Given the description of an element on the screen output the (x, y) to click on. 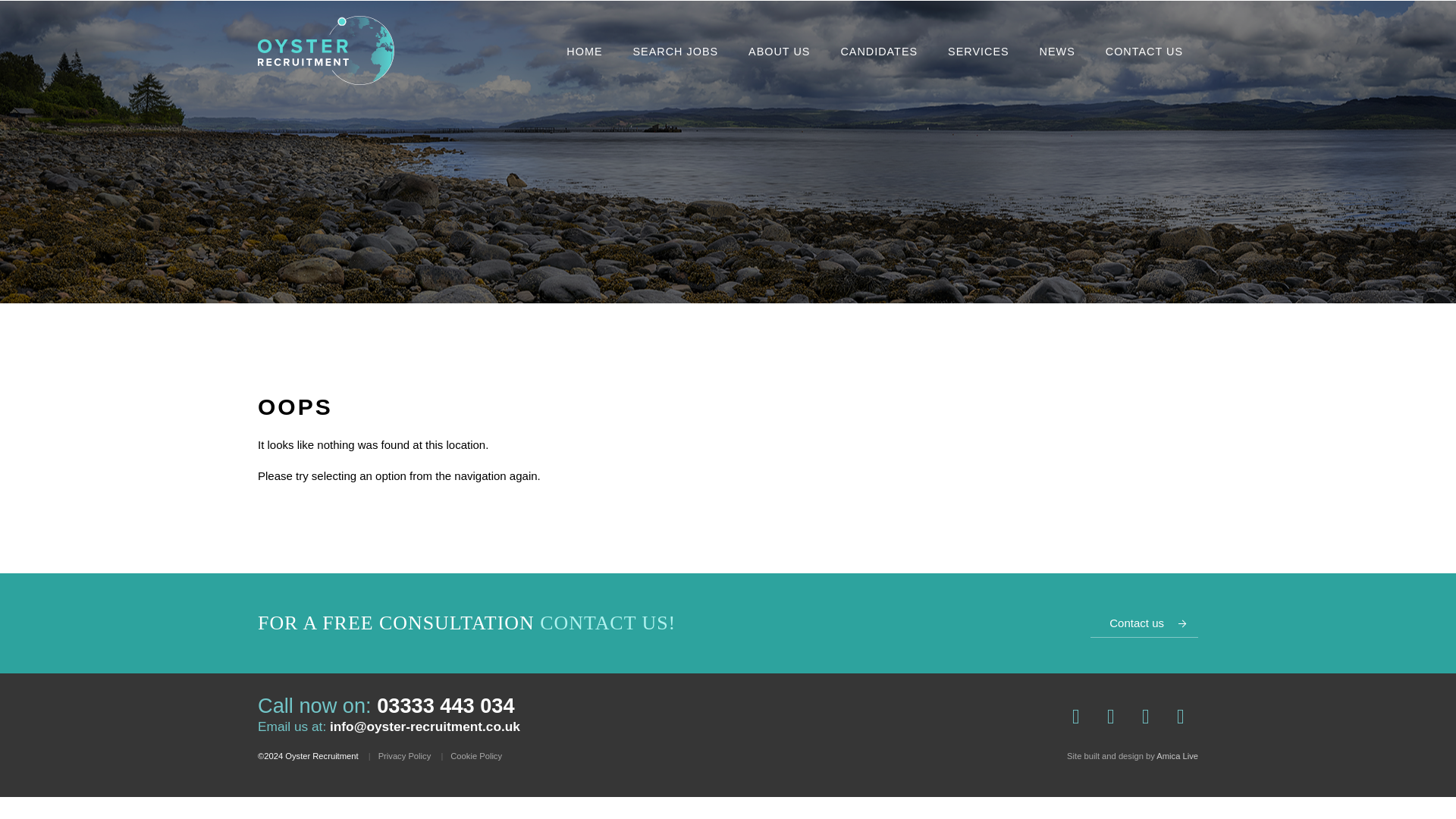
Contact us (1144, 623)
Cookie Policy (475, 755)
Privacy Policy (404, 755)
ABOUT US (778, 51)
03333 443 034 (445, 705)
Amica Live (1177, 755)
NEWS (1056, 51)
SEARCH JOBS (676, 51)
SERVICES (978, 51)
CANDIDATES (878, 51)
